Given the description of an element on the screen output the (x, y) to click on. 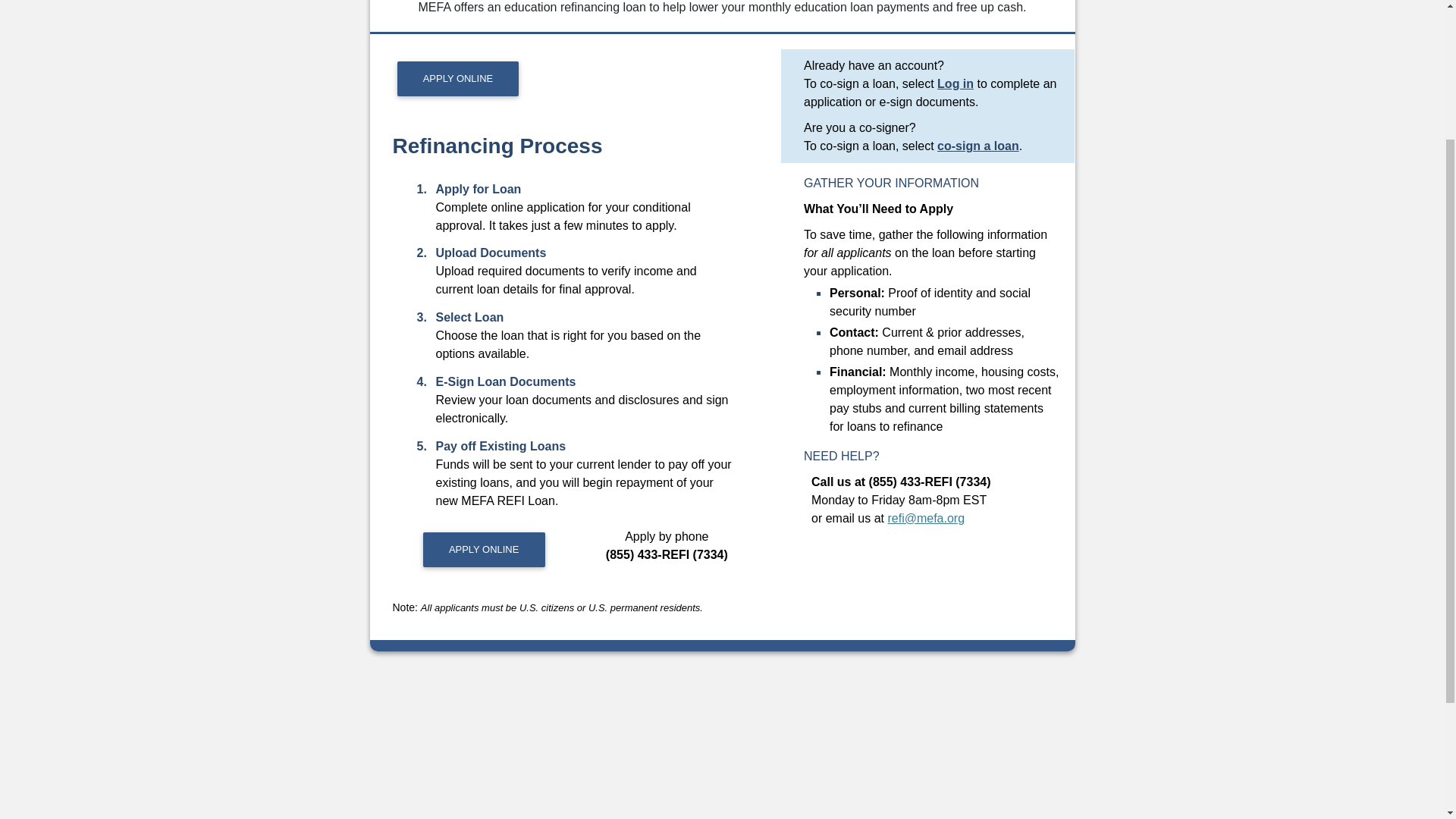
Log in (955, 83)
co-sign a loan (978, 145)
APPLY ONLINE (483, 549)
APPLY ONLINE (458, 78)
